Given the description of an element on the screen output the (x, y) to click on. 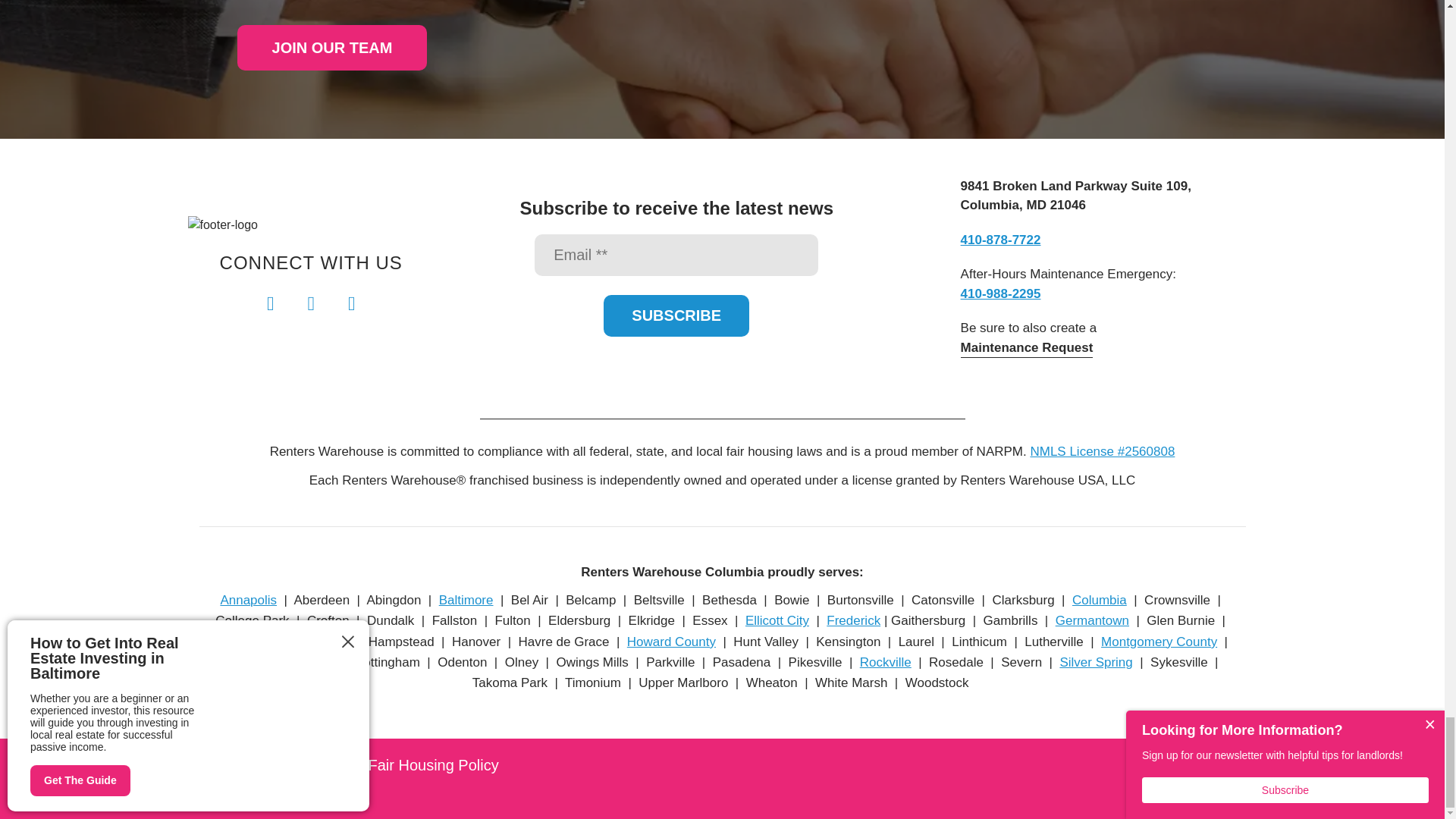
footer-logo (223, 225)
Embedded CTA (330, 47)
Subscribe (676, 315)
